Given the description of an element on the screen output the (x, y) to click on. 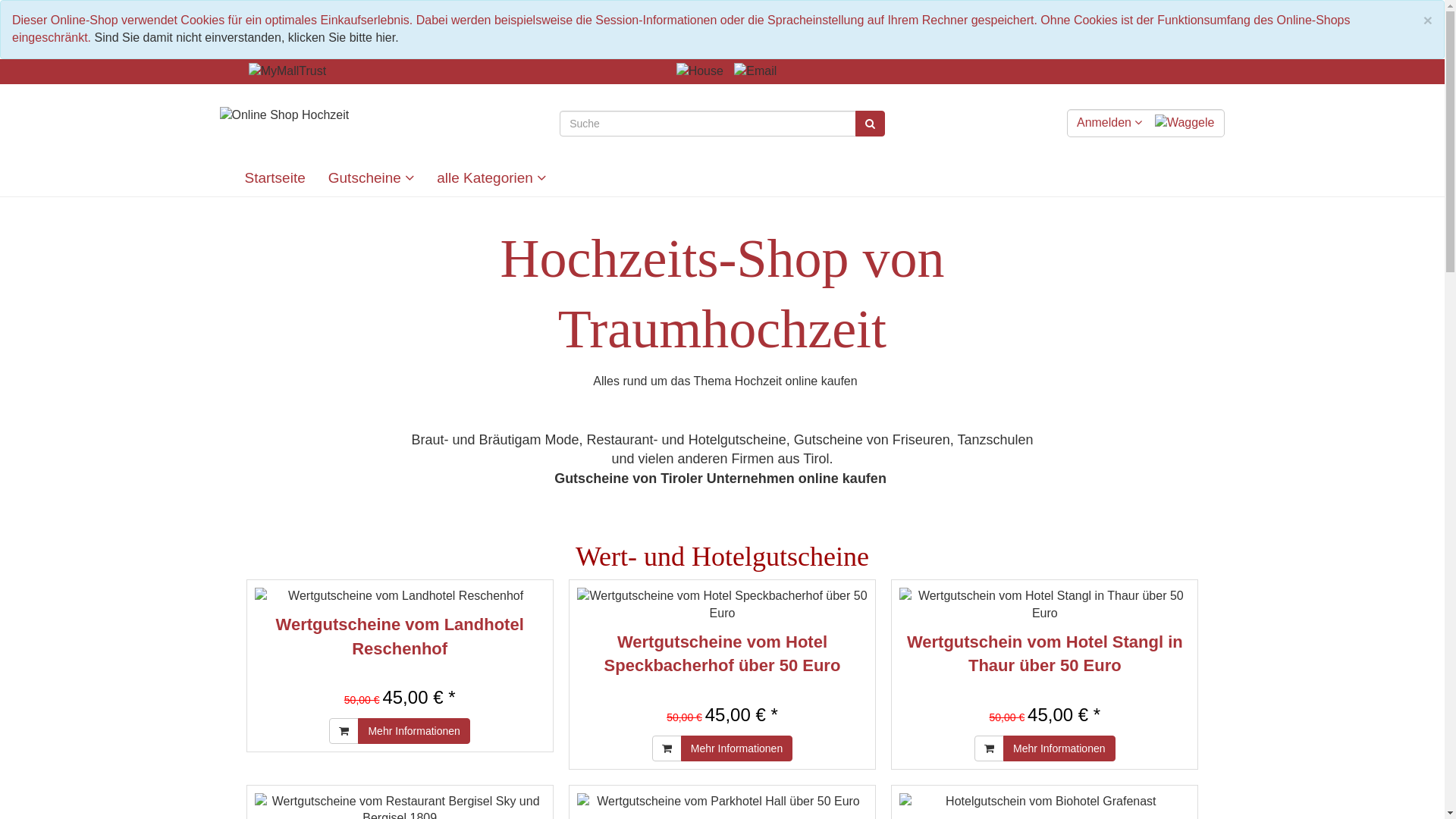
alle Kategorien Element type: text (491, 178)
In den Warenkorb Element type: hover (666, 748)
In den Warenkorb Element type: hover (989, 748)
Online Shop Hochzeit Element type: hover (284, 114)
Mehr Informationen Element type: text (413, 730)
Wertgutscheine vom Landhotel Reschenhof  Element type: hover (399, 596)
Wertgutscheine vom Landhotel Reschenhof Element type: text (400, 636)
Hotelgutschein vom Biohotel Grafenast  Element type: hover (1044, 801)
In den Warenkorb Element type: hover (343, 730)
Mehr Informationen Element type: text (736, 748)
Startseite Element type: text (274, 178)
Gutscheine Element type: text (370, 178)
Sind Sie damit nicht einverstanden, klicken Sie bitte hier. Element type: text (246, 37)
Anmelden Element type: text (1109, 122)
Suchen Element type: hover (869, 123)
Mehr Informationen Element type: text (1058, 748)
